Given the description of an element on the screen output the (x, y) to click on. 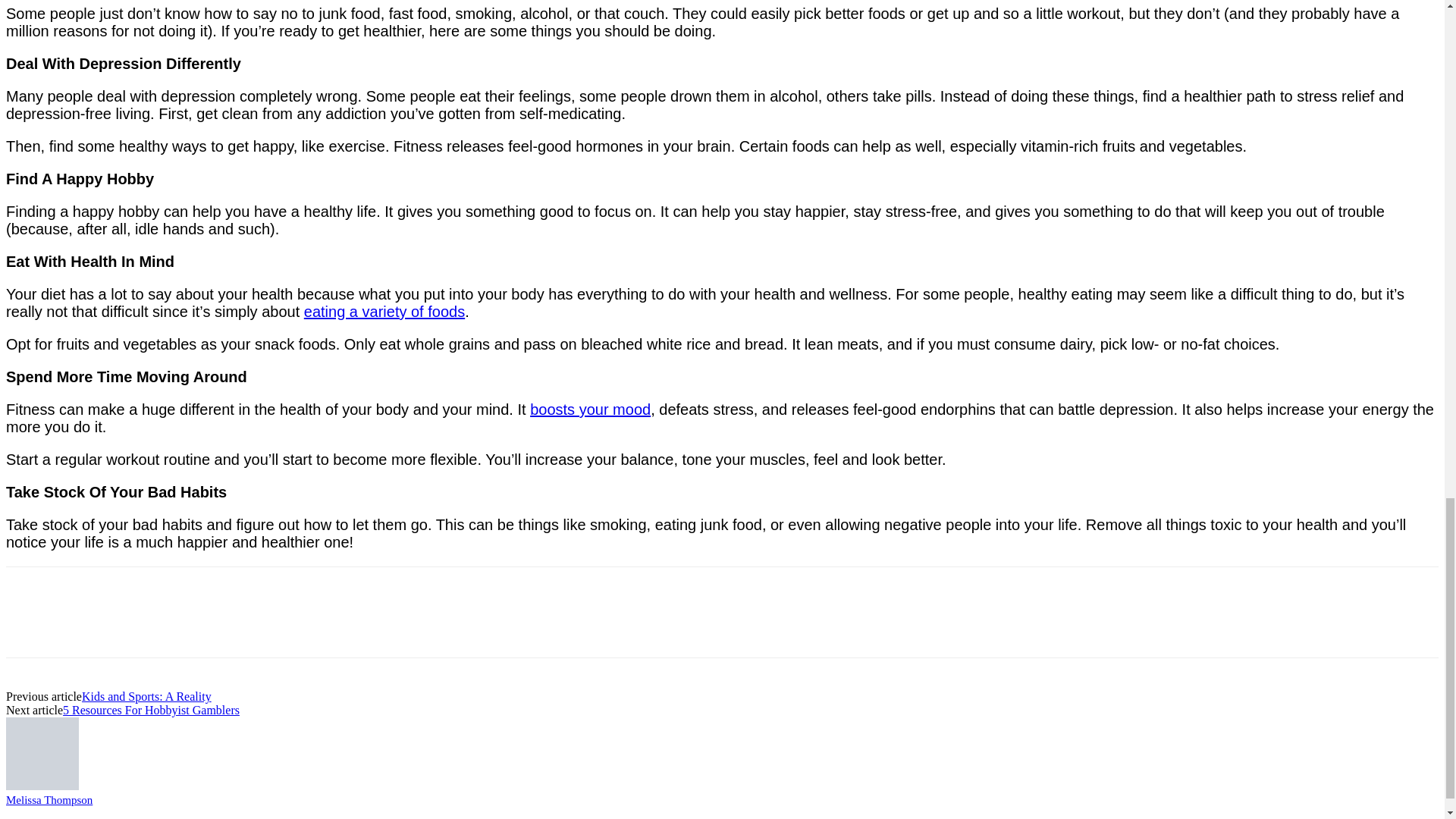
bottomFacebookLike (118, 590)
